Given the description of an element on the screen output the (x, y) to click on. 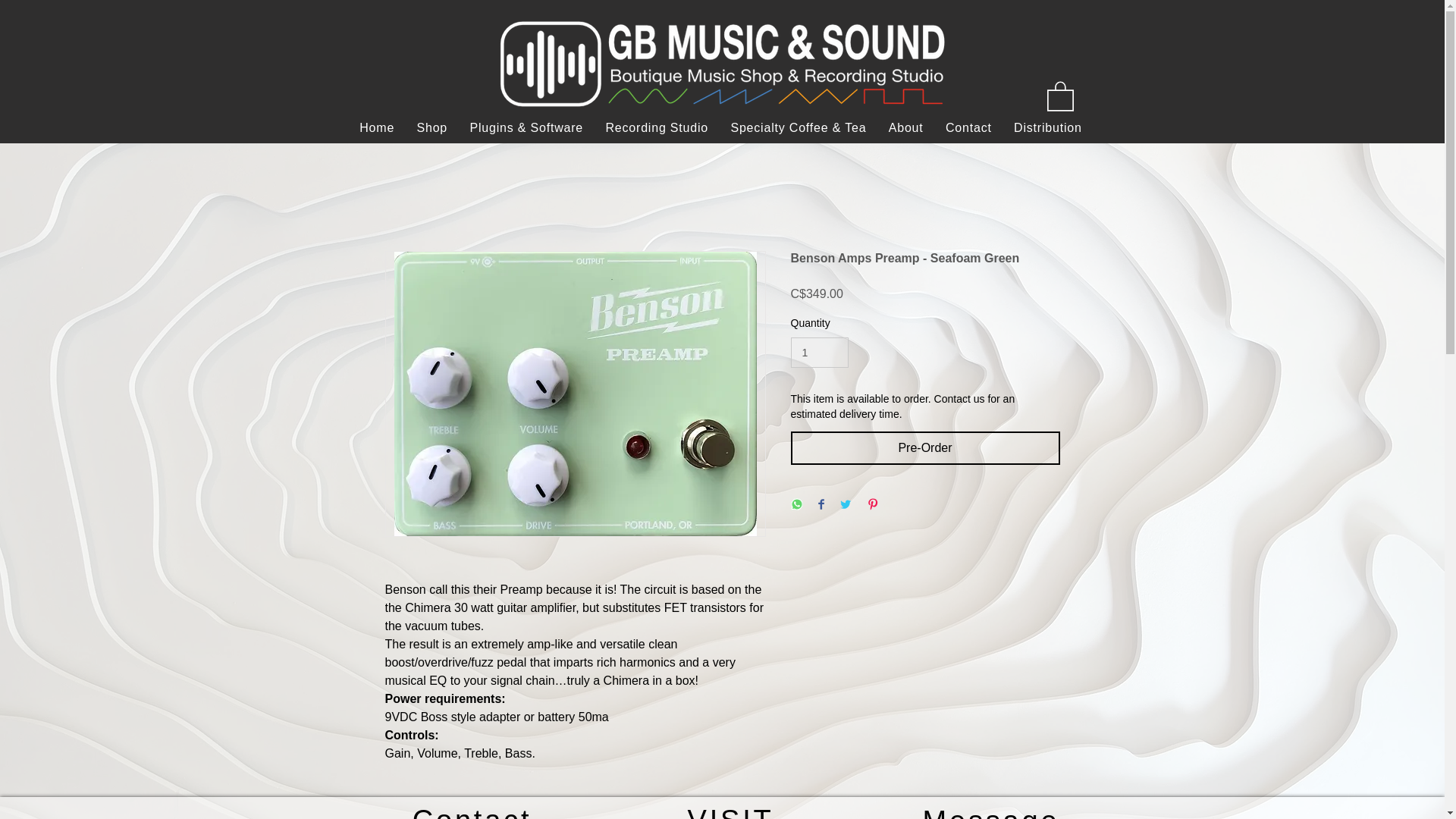
Home (376, 128)
Shop (432, 128)
1 (818, 352)
